Given the description of an element on the screen output the (x, y) to click on. 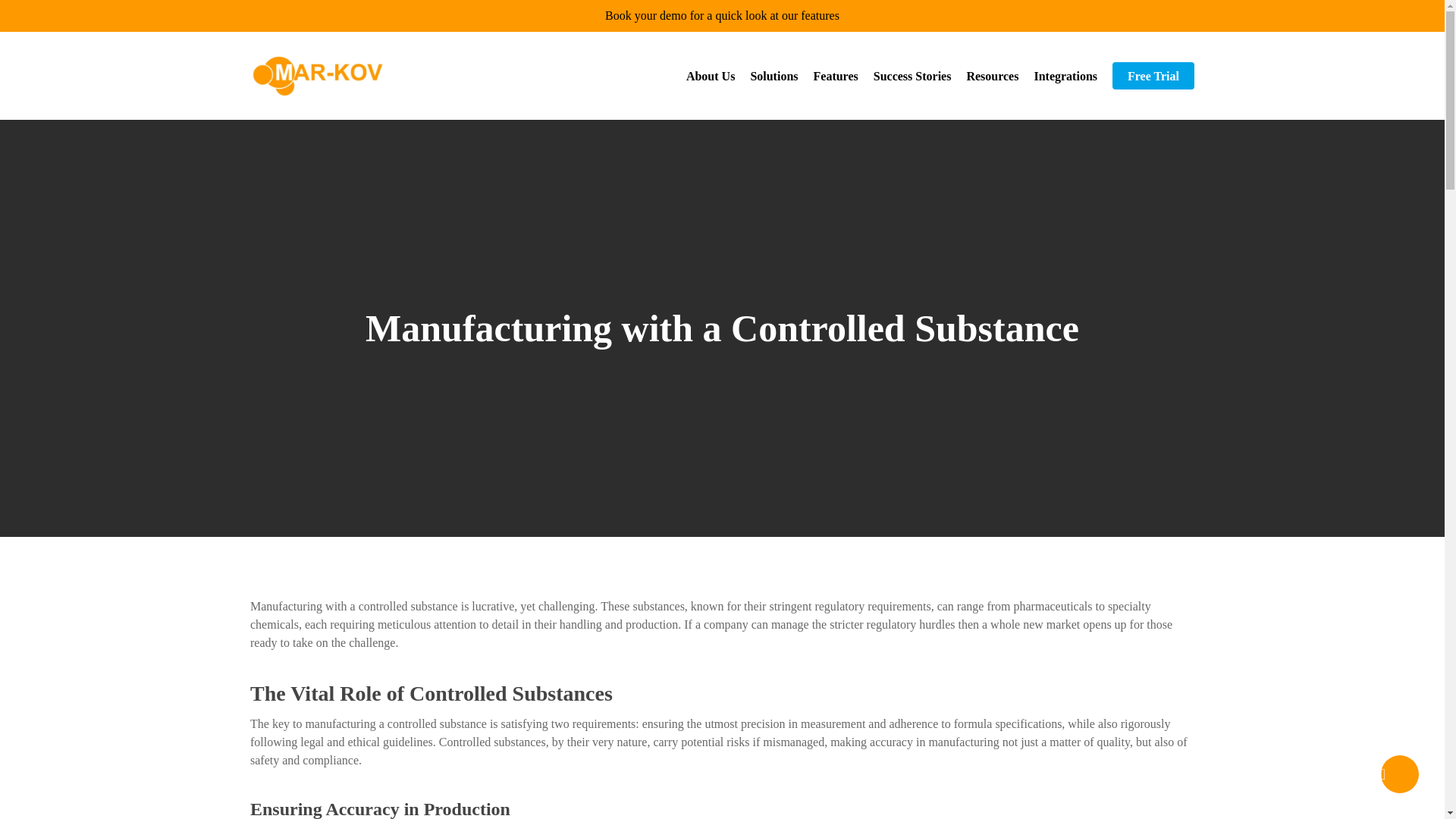
Success Stories (912, 75)
Book your demo for a quick look at our features (722, 15)
Solutions (773, 75)
Features (836, 75)
About Us (710, 75)
Resources (991, 75)
